Given the description of an element on the screen output the (x, y) to click on. 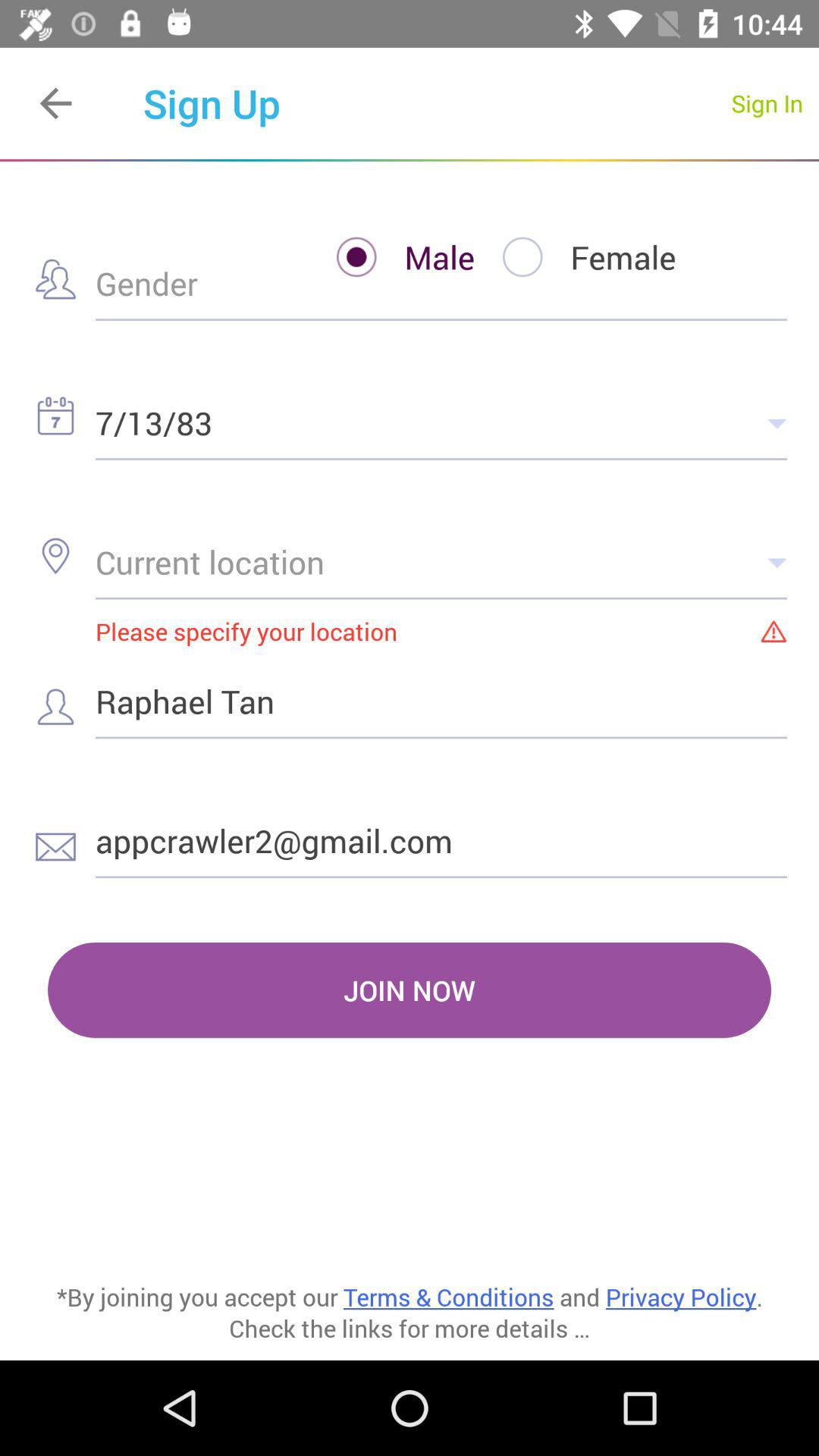
flip until by joining you icon (409, 1198)
